Given the description of an element on the screen output the (x, y) to click on. 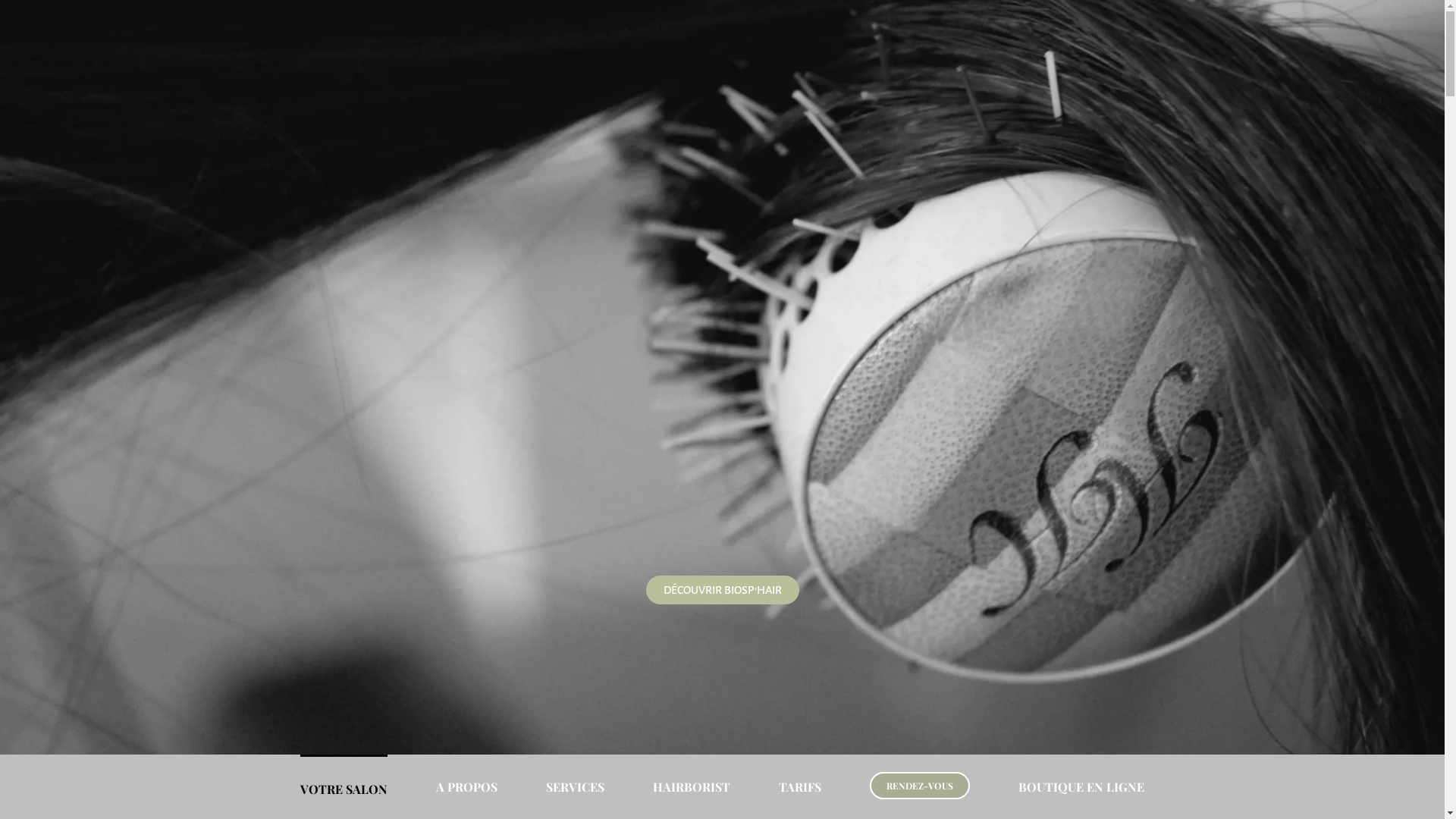
TARIFS Element type: text (799, 774)
SERVICES Element type: text (575, 774)
VOTRE SALON Element type: text (343, 775)
A PROPOS Element type: text (466, 774)
RENDEZ-VOUS Element type: text (919, 785)
BOUTIQUE EN LIGNE Element type: text (1081, 774)
HAIRBORIST Element type: text (691, 774)
